Given the description of an element on the screen output the (x, y) to click on. 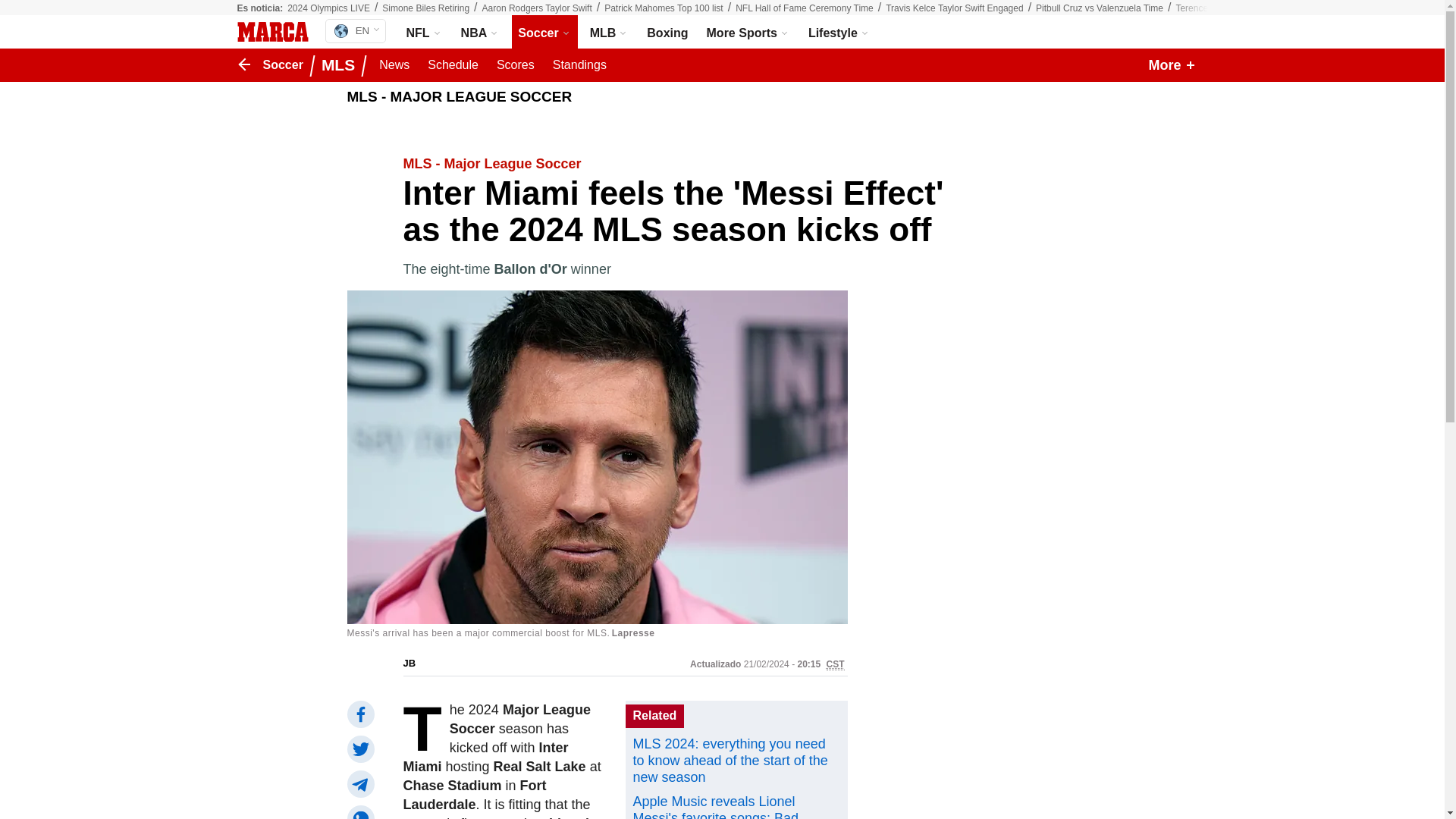
Soccer (354, 30)
MLB (544, 31)
Boxing (608, 31)
Schedule (667, 31)
Aaron Rodgers Taylor Swift (453, 64)
Scores (536, 8)
MLB (515, 64)
Patrick Mahomes Top 100 list (608, 31)
Pitbull Cruz vs Valenzuela Time (663, 8)
NFL (1099, 8)
Travis Kelce Taylor Swift Engaged (424, 31)
Scores (954, 8)
Schedule (515, 64)
More Sports (453, 64)
